Given the description of an element on the screen output the (x, y) to click on. 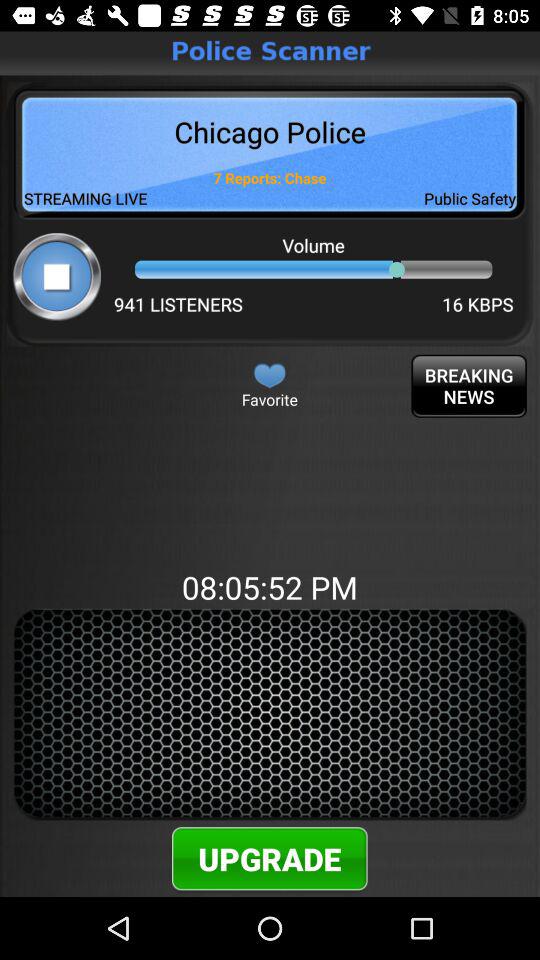
mark station as favorite (269, 375)
